Given the description of an element on the screen output the (x, y) to click on. 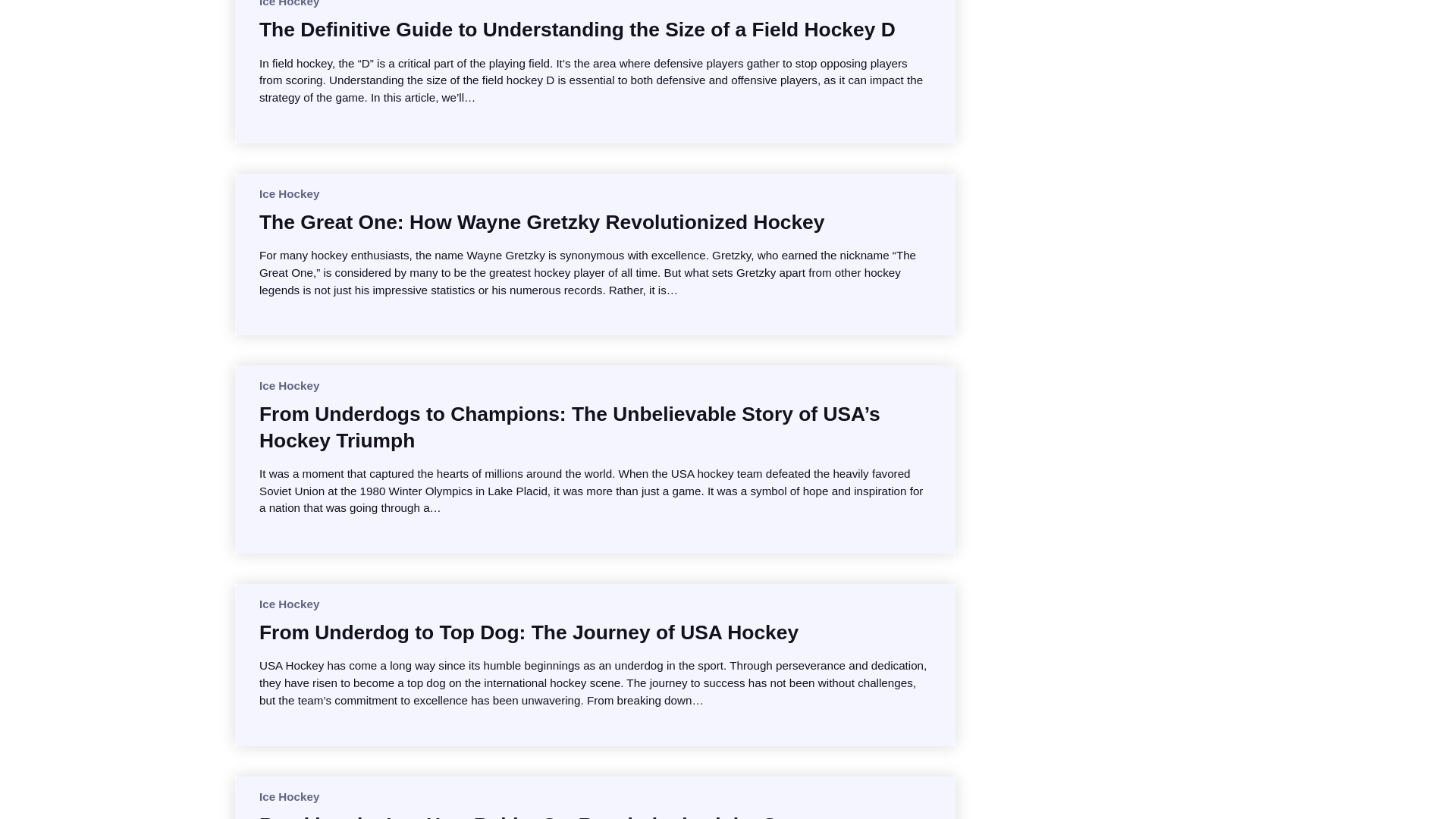
Ice Hockey (288, 603)
Ice Hockey (288, 3)
Ice Hockey (288, 796)
From Underdog to Top Dog: The Journey of USA Hockey (528, 632)
Breaking the Ice: How Bobby Orr Revolutionized the Game (537, 815)
Ice Hockey (288, 193)
Ice Hockey (288, 385)
The Great One: How Wayne Gretzky Revolutionized Hockey (541, 222)
